Given the description of an element on the screen output the (x, y) to click on. 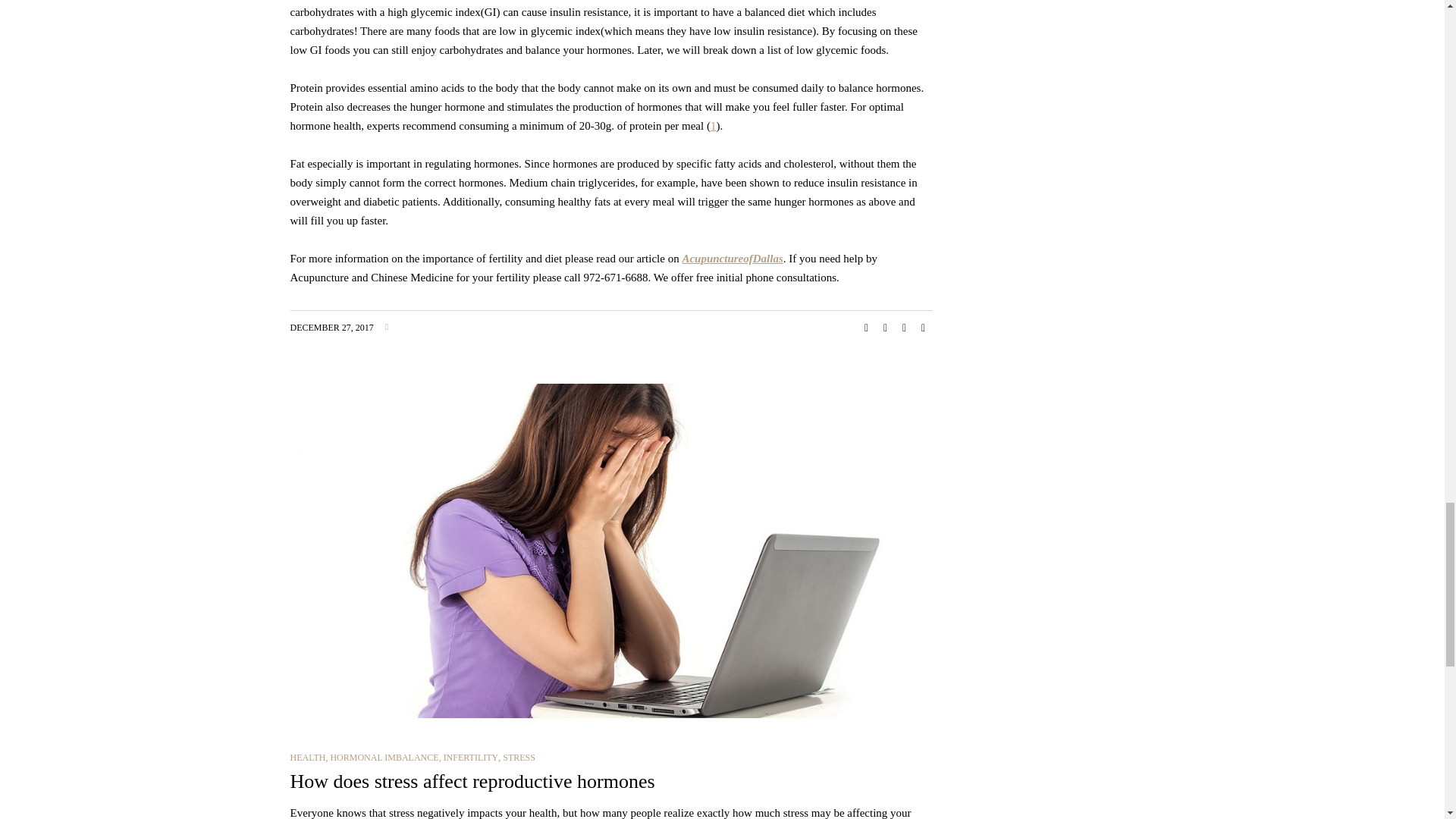
Pin this (923, 328)
Share with Google Plus (904, 328)
Tweet this (885, 328)
Share this (866, 328)
